Given the description of an element on the screen output the (x, y) to click on. 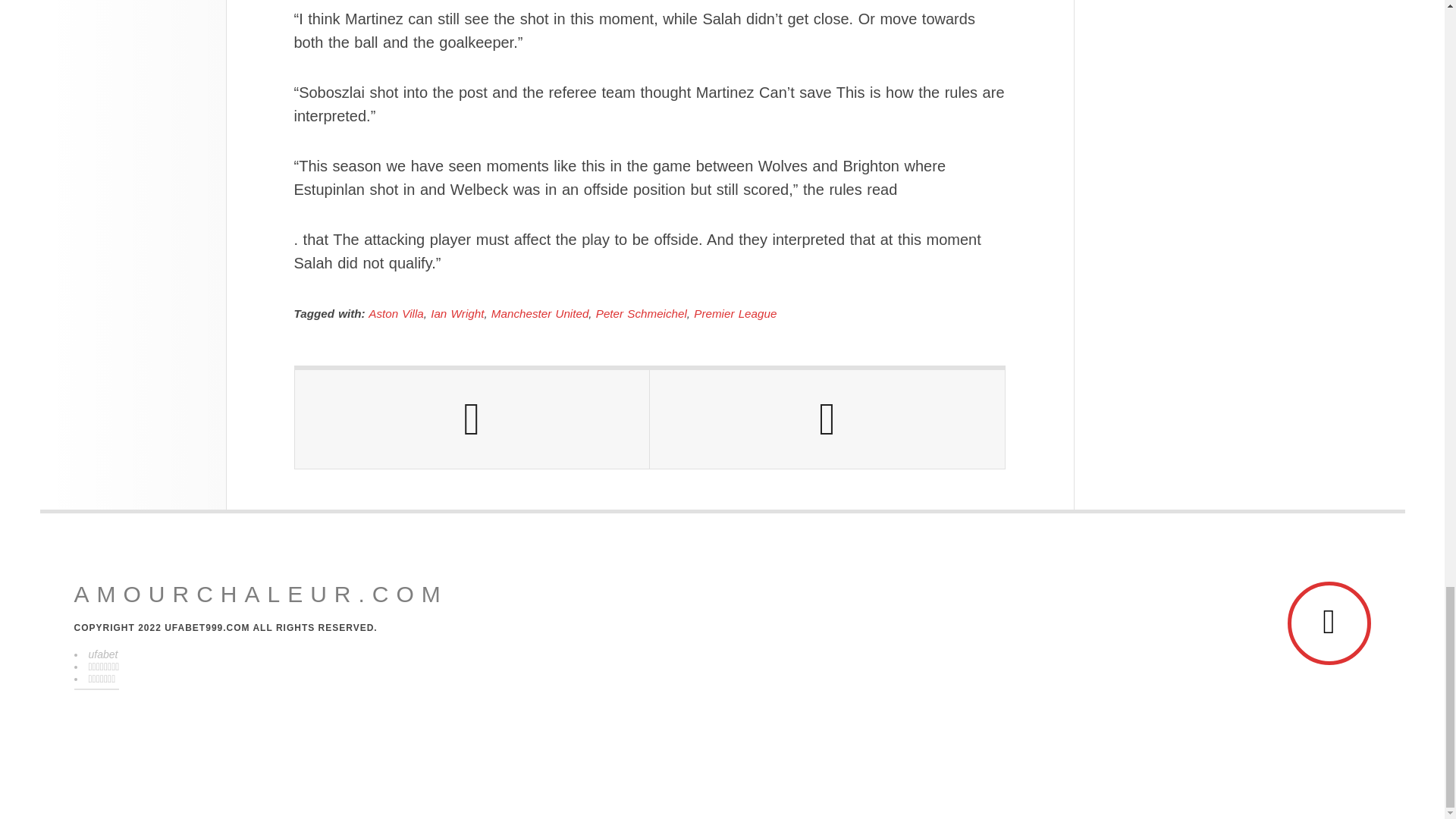
Manchester United (540, 313)
Previous Post (471, 419)
Premier League (735, 313)
Ian Wright (456, 313)
Next Post (826, 419)
Aston Villa (395, 313)
amourchaleur.com (261, 594)
Peter Schmeichel (641, 313)
